Given the description of an element on the screen output the (x, y) to click on. 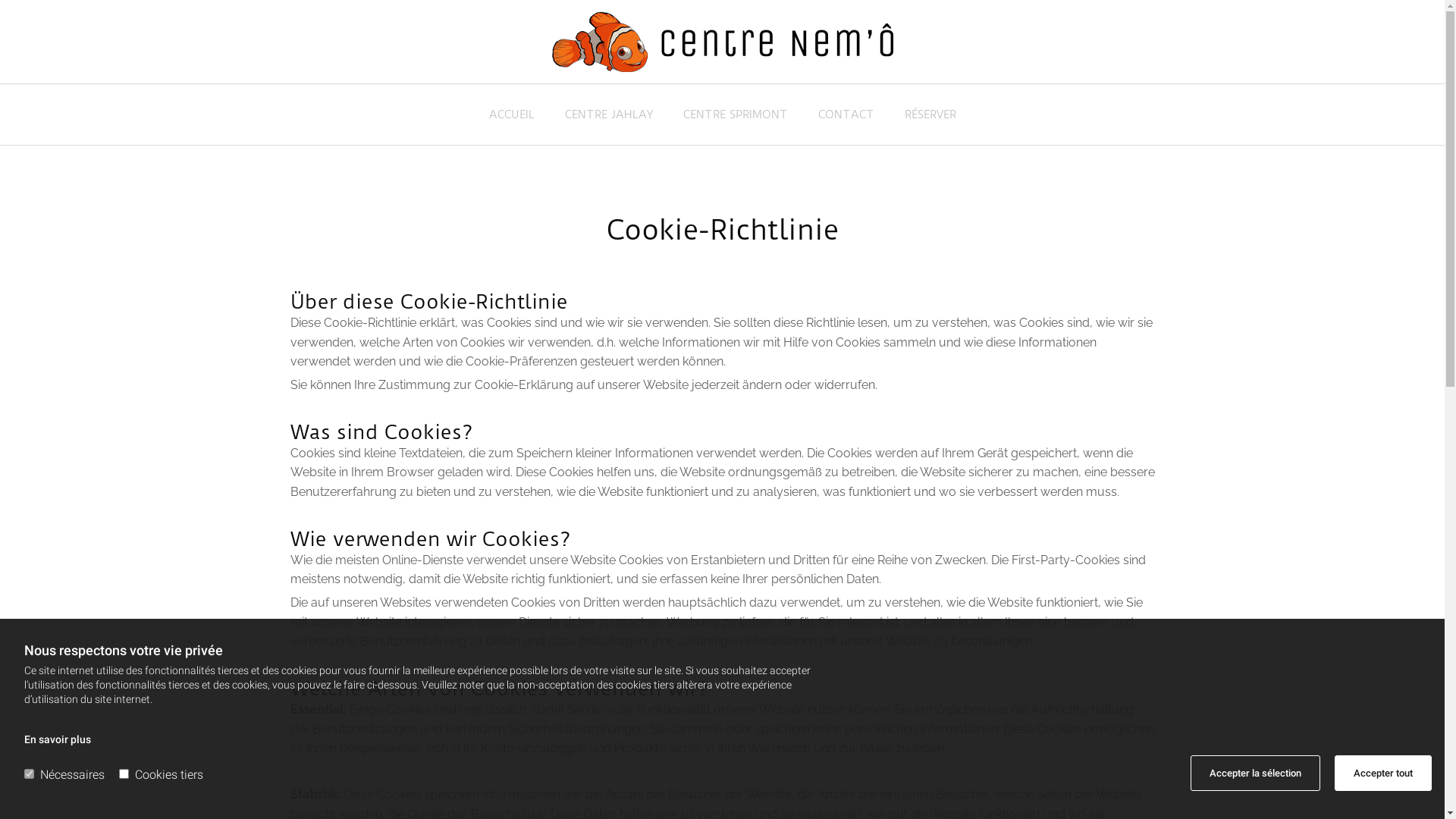
En savoir plus Element type: text (57, 739)
CENTRE SPRIMONT Element type: text (734, 120)
ACCUEIL Element type: text (511, 120)
Accepter tout Element type: text (1382, 772)
CENTRE JAHLAY Element type: text (608, 120)
CONTACT Element type: text (845, 120)
